Given the description of an element on the screen output the (x, y) to click on. 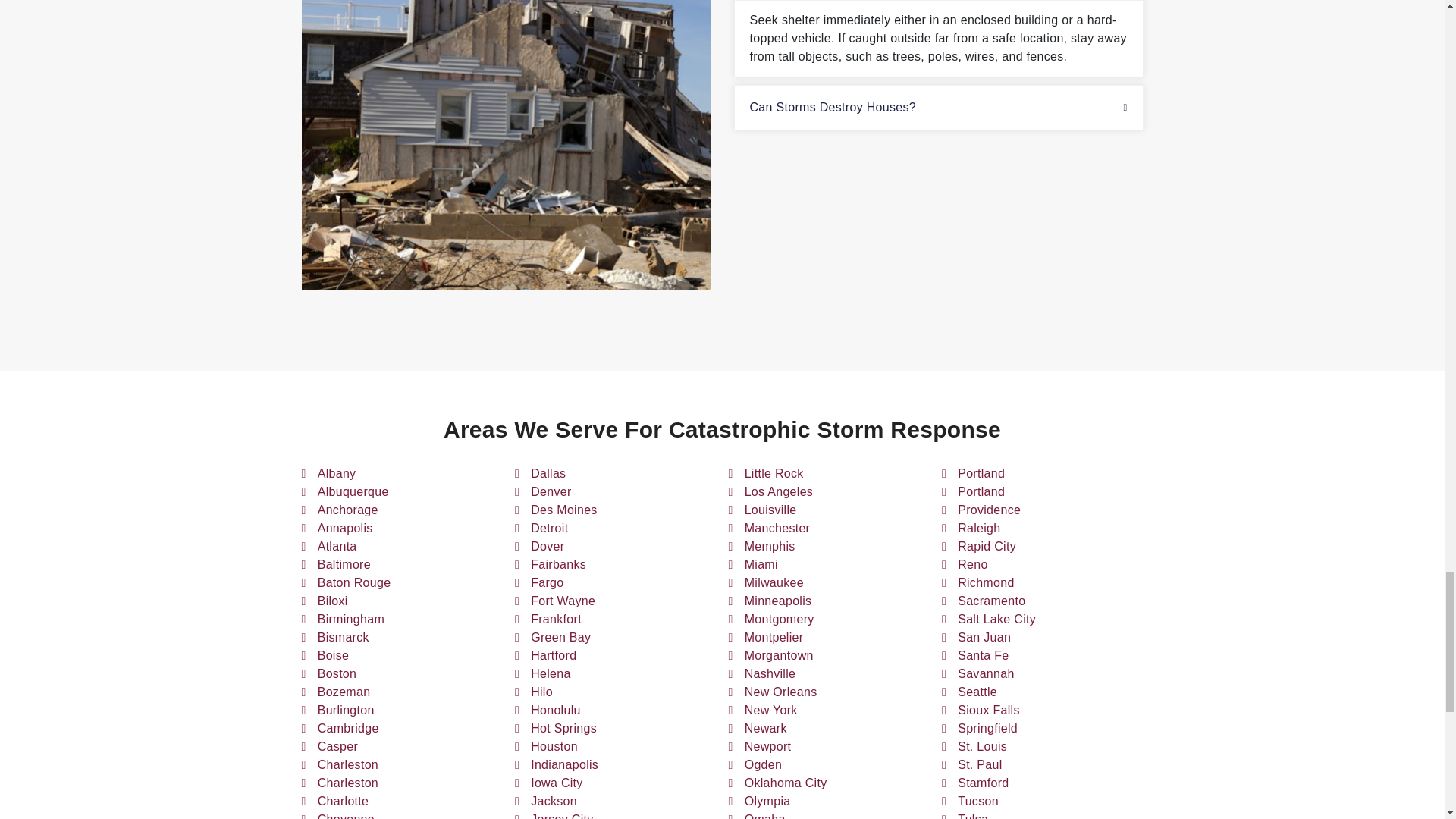
Albany (336, 474)
Albuquerque (352, 492)
Annapolis (344, 528)
Anchorage (347, 510)
Can Storms Destroy Houses? (937, 107)
